Given the description of an element on the screen output the (x, y) to click on. 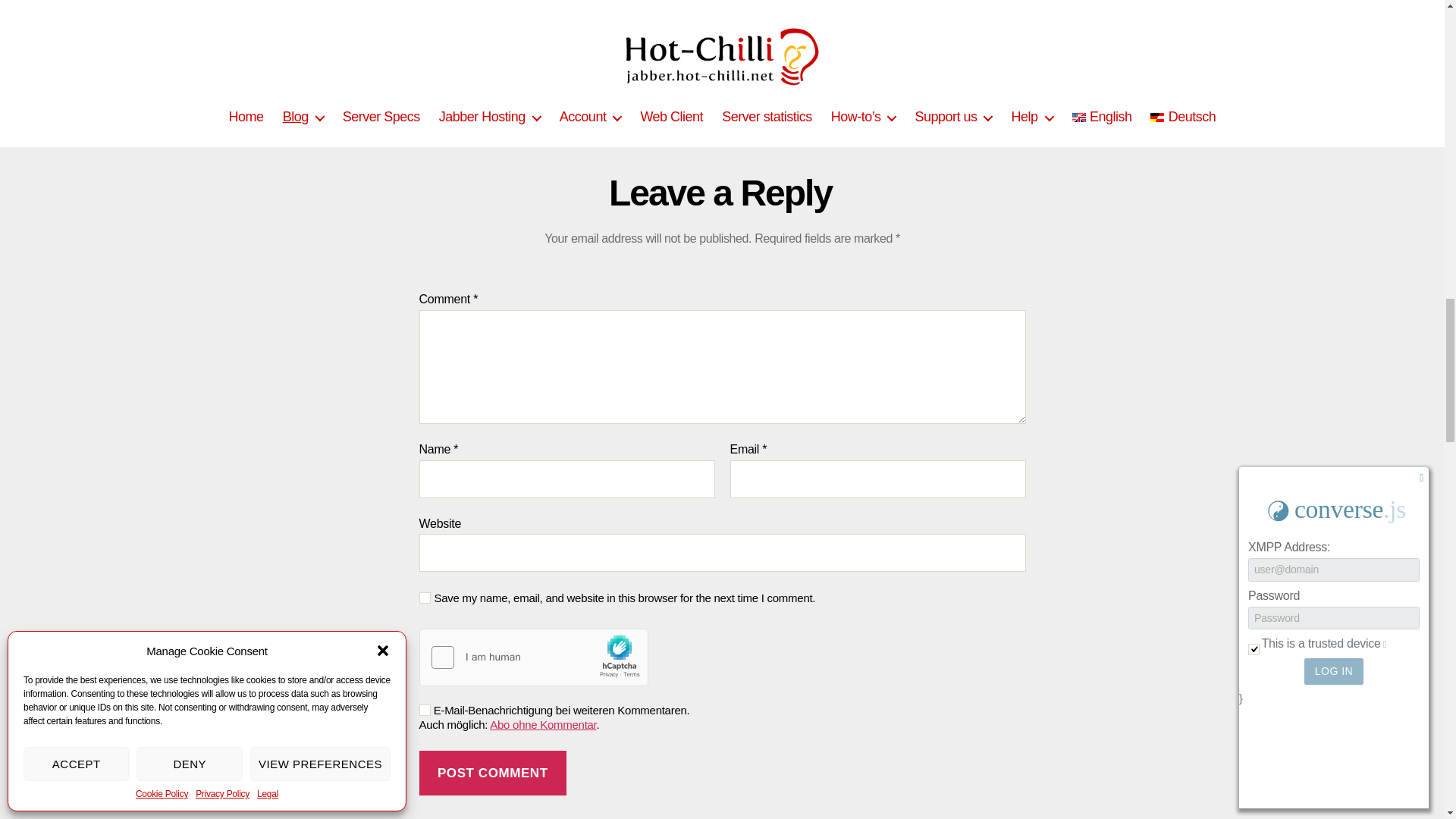
Reply (736, 35)
yes (424, 709)
yes (424, 597)
Widget containing checkbox for hCaptcha security challenge (533, 657)
Post Comment (492, 773)
